Given the description of an element on the screen output the (x, y) to click on. 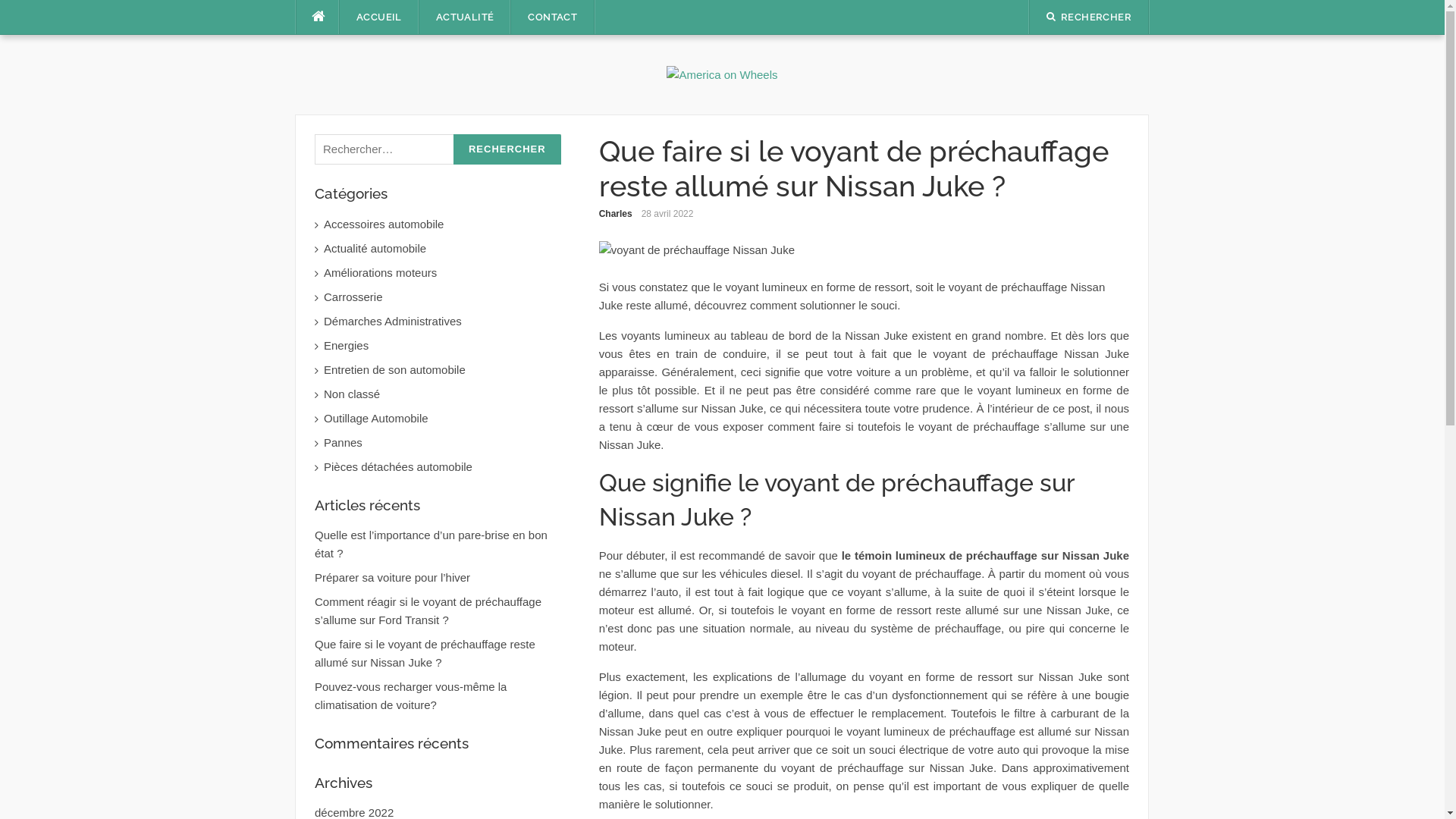
Accessoires automobile Element type: text (442, 224)
Charles Element type: text (615, 213)
Outillage Automobile Element type: text (442, 418)
America on Wheels Element type: hover (721, 73)
Energies Element type: text (442, 345)
Entretien de son automobile Element type: text (442, 369)
Pannes Element type: text (442, 442)
Carrosserie Element type: text (442, 297)
CONTACT Element type: text (552, 17)
Rechercher Element type: text (507, 149)
RECHERCHER Element type: text (1088, 16)
ACCUEIL Element type: text (378, 17)
